Given the description of an element on the screen output the (x, y) to click on. 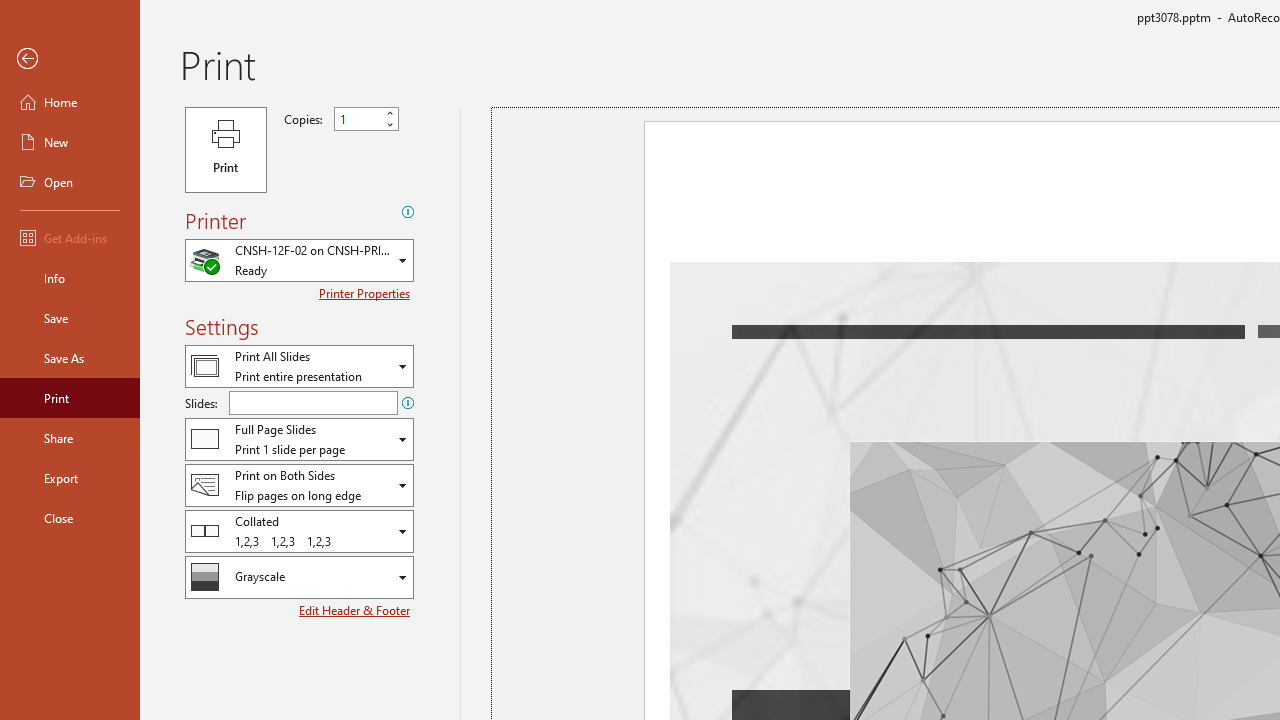
Color/Grayscale (299, 577)
Info (69, 277)
Copies (366, 119)
More (389, 113)
Copies (358, 119)
Save As (69, 357)
Two-Sided Printing (299, 484)
Print (69, 398)
New (69, 141)
Edit Header & Footer (356, 610)
Less (389, 124)
